Given the description of an element on the screen output the (x, y) to click on. 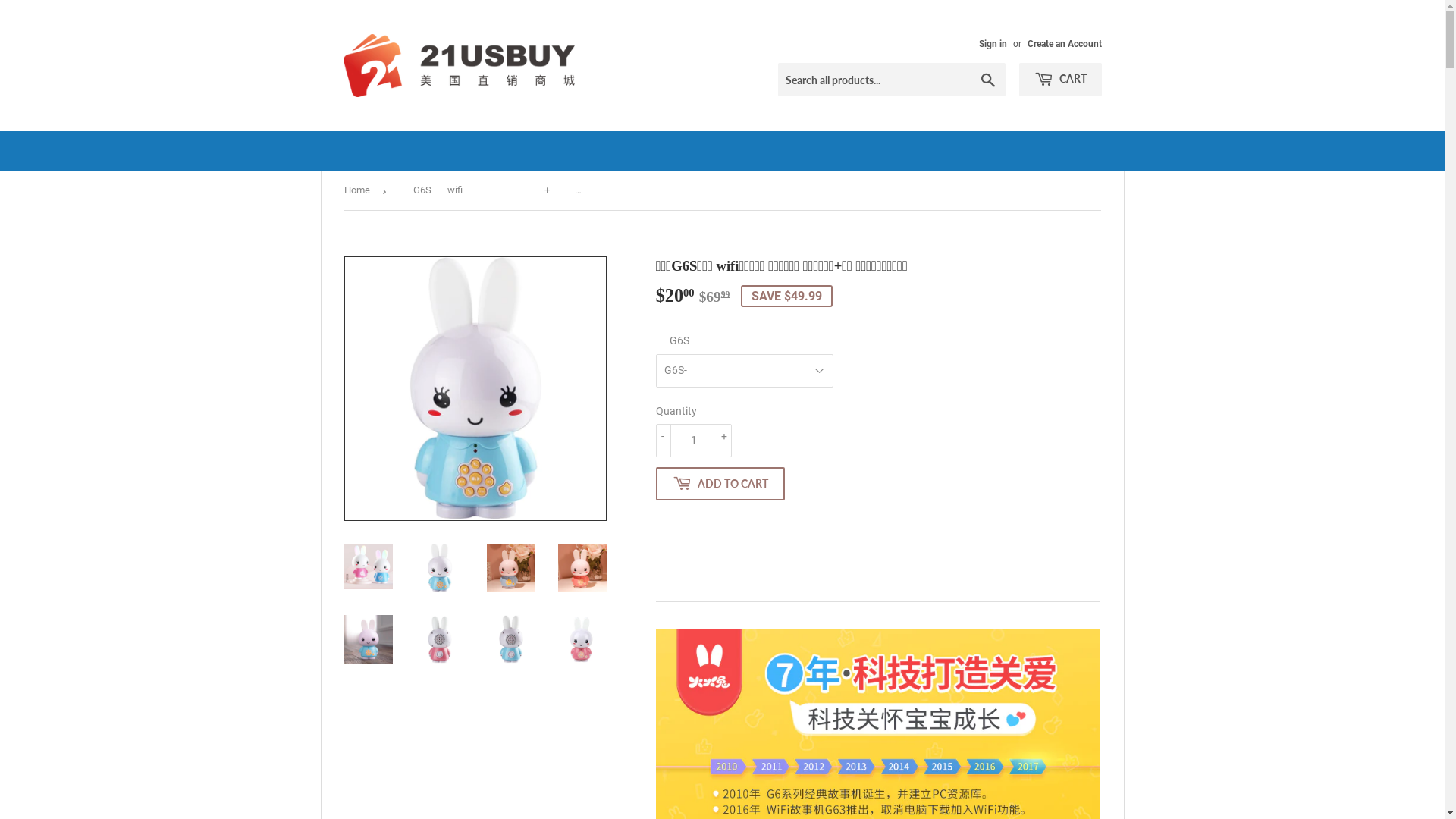
Sign in Element type: text (992, 43)
ADD TO CART Element type: text (719, 483)
Home Element type: text (359, 190)
CART Element type: text (1060, 79)
Search Element type: text (987, 80)
Create an Account Element type: text (1063, 43)
